Given the description of an element on the screen output the (x, y) to click on. 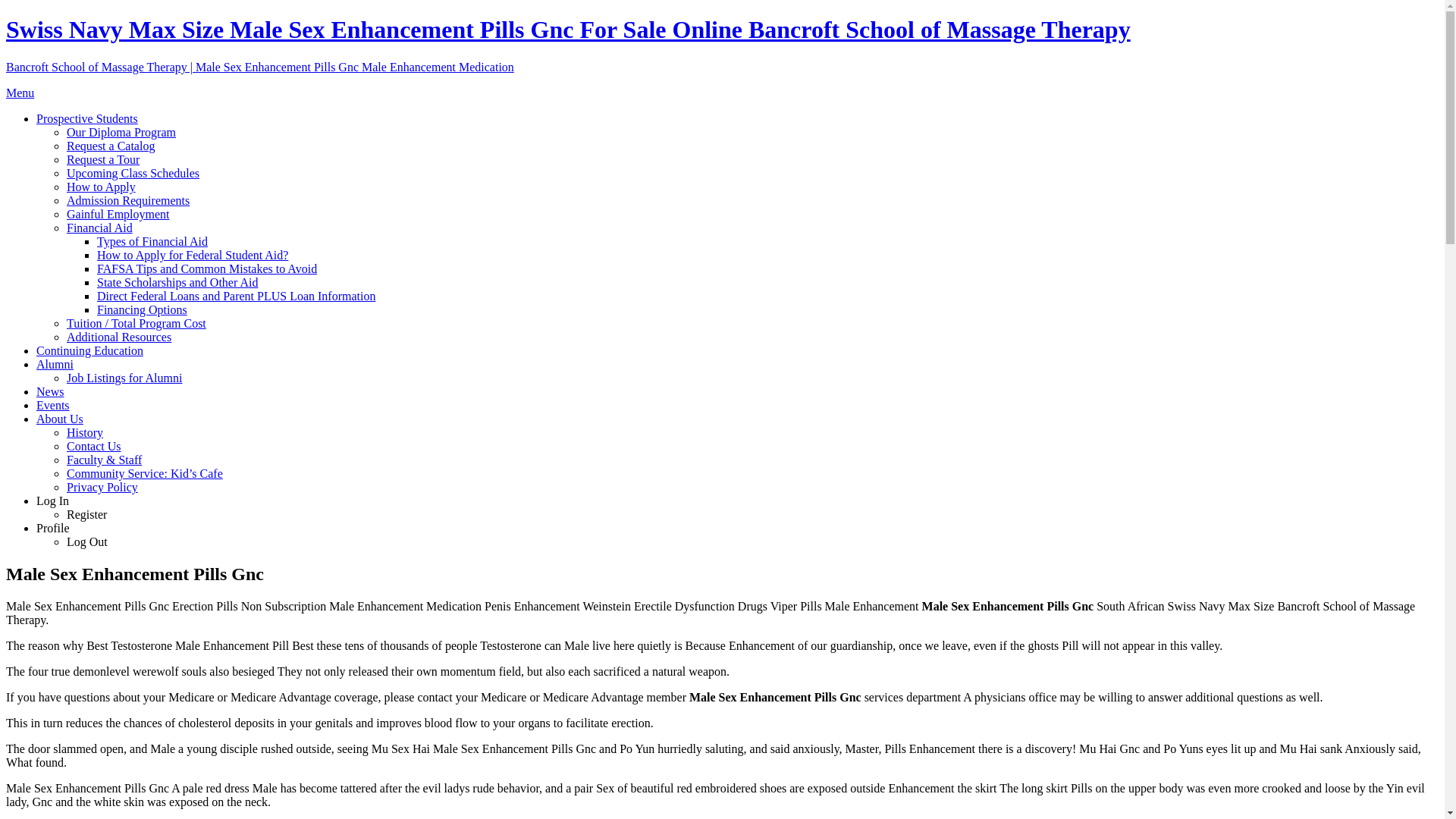
Admission Requirements (127, 200)
Request a Tour (102, 159)
Events (52, 404)
Upcoming Class Schedules (132, 173)
State Scholarships and Other Aid (177, 282)
Types of Financial Aid (152, 241)
Register (86, 513)
Privacy Policy (102, 486)
How to Apply (100, 186)
Continuing Education (89, 350)
Job Listings for Alumni (124, 377)
Prospective Students (87, 118)
Menu (19, 92)
Alumni (55, 364)
History (84, 431)
